Given the description of an element on the screen output the (x, y) to click on. 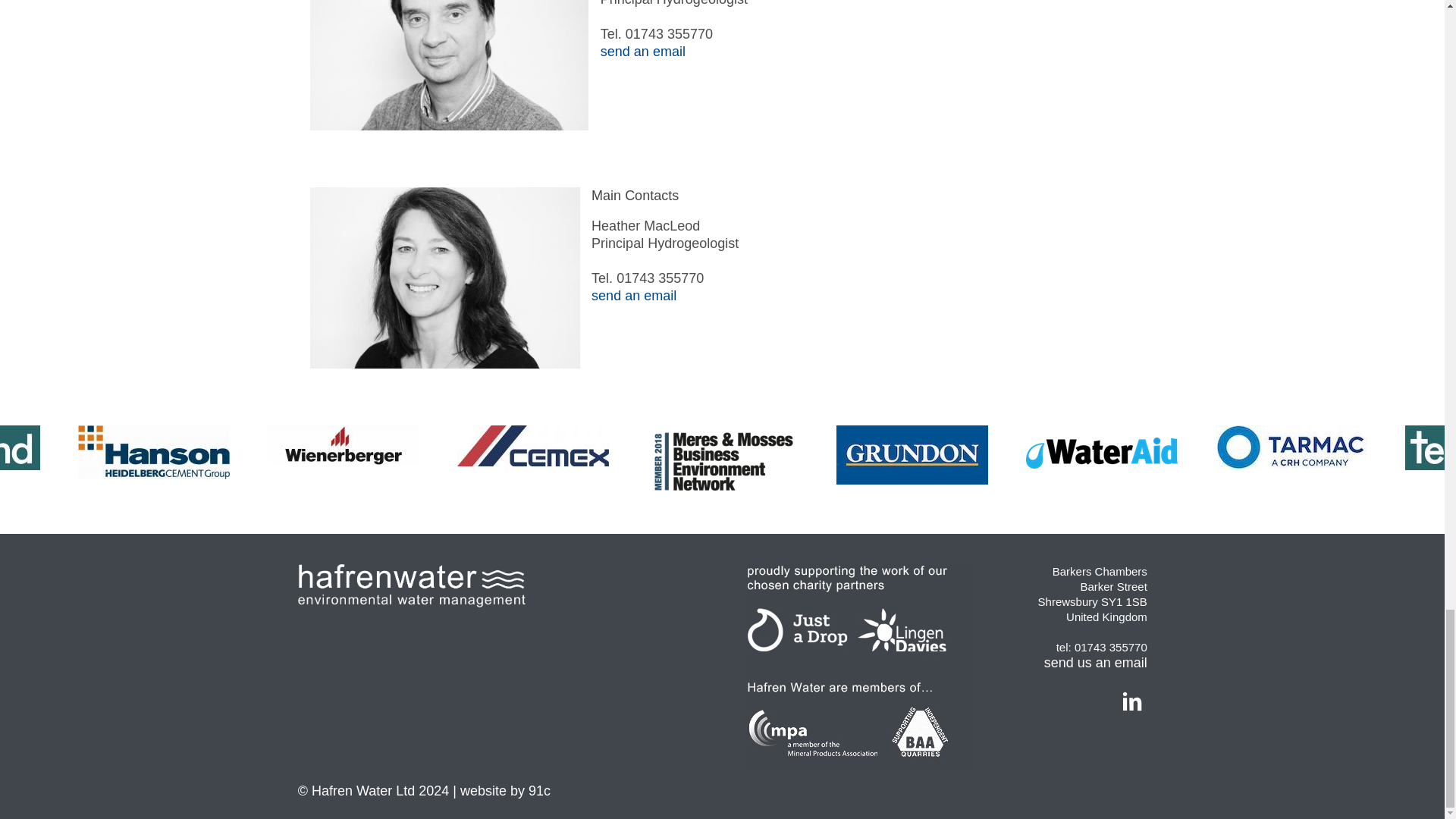
send us an email (1095, 662)
01743 355770 (659, 278)
Hanson (154, 452)
send an email (634, 295)
website by 91c (505, 790)
send an email (642, 51)
01743 355770 (669, 33)
Tearfund (20, 447)
01743 355770 (1110, 646)
Wienerberger (343, 445)
Cemex (532, 445)
